Given the description of an element on the screen output the (x, y) to click on. 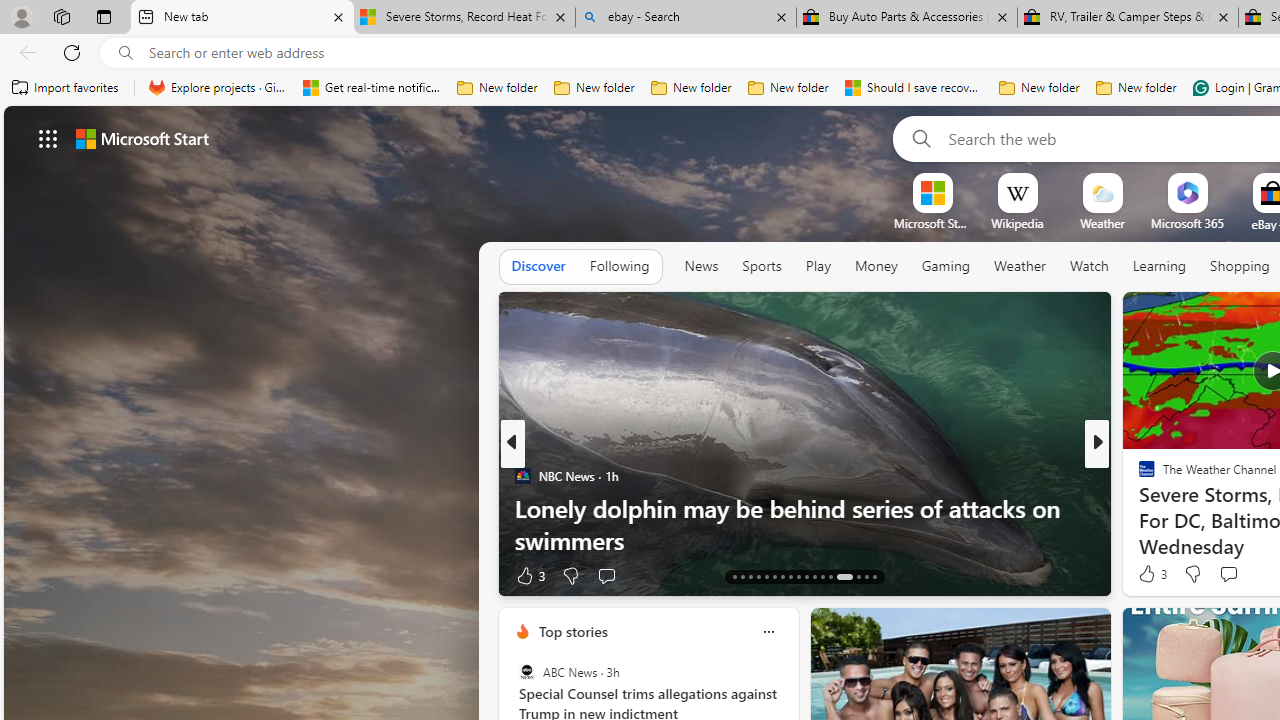
116 Like (1151, 574)
MUO (1138, 507)
Top stories (572, 631)
NBC News (522, 475)
Gaming (945, 267)
View comments 96 Comment (11, 575)
Lonely dolphin may be behind series of attacks on swimmers (804, 523)
AutomationID: tab-18 (774, 576)
Weather (1020, 265)
